Given the description of an element on the screen output the (x, y) to click on. 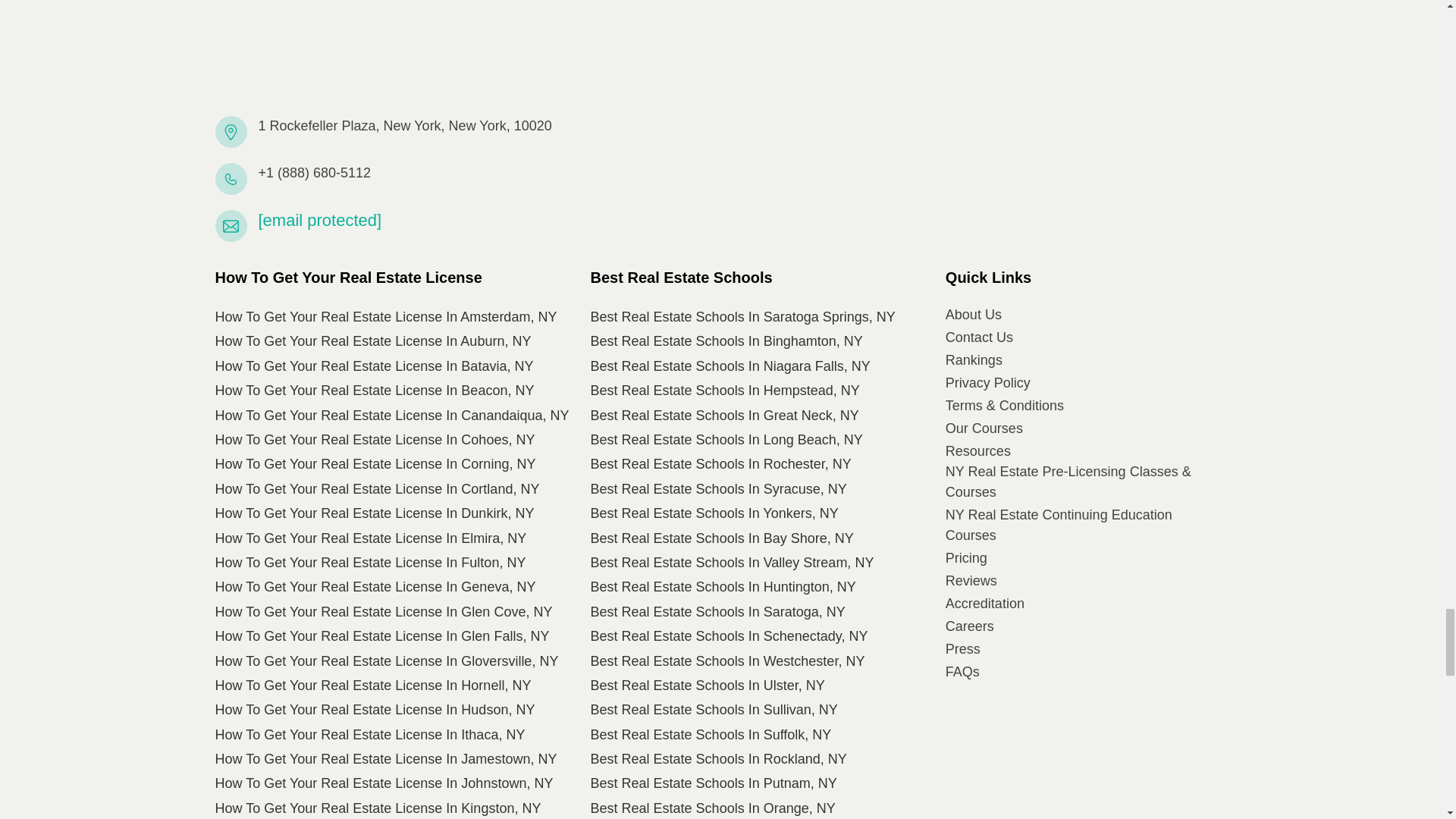
How To Get Your Real Estate License In Amsterdam, NY (386, 316)
How To Get Your Real Estate License In Auburn, NY (373, 340)
